Given the description of an element on the screen output the (x, y) to click on. 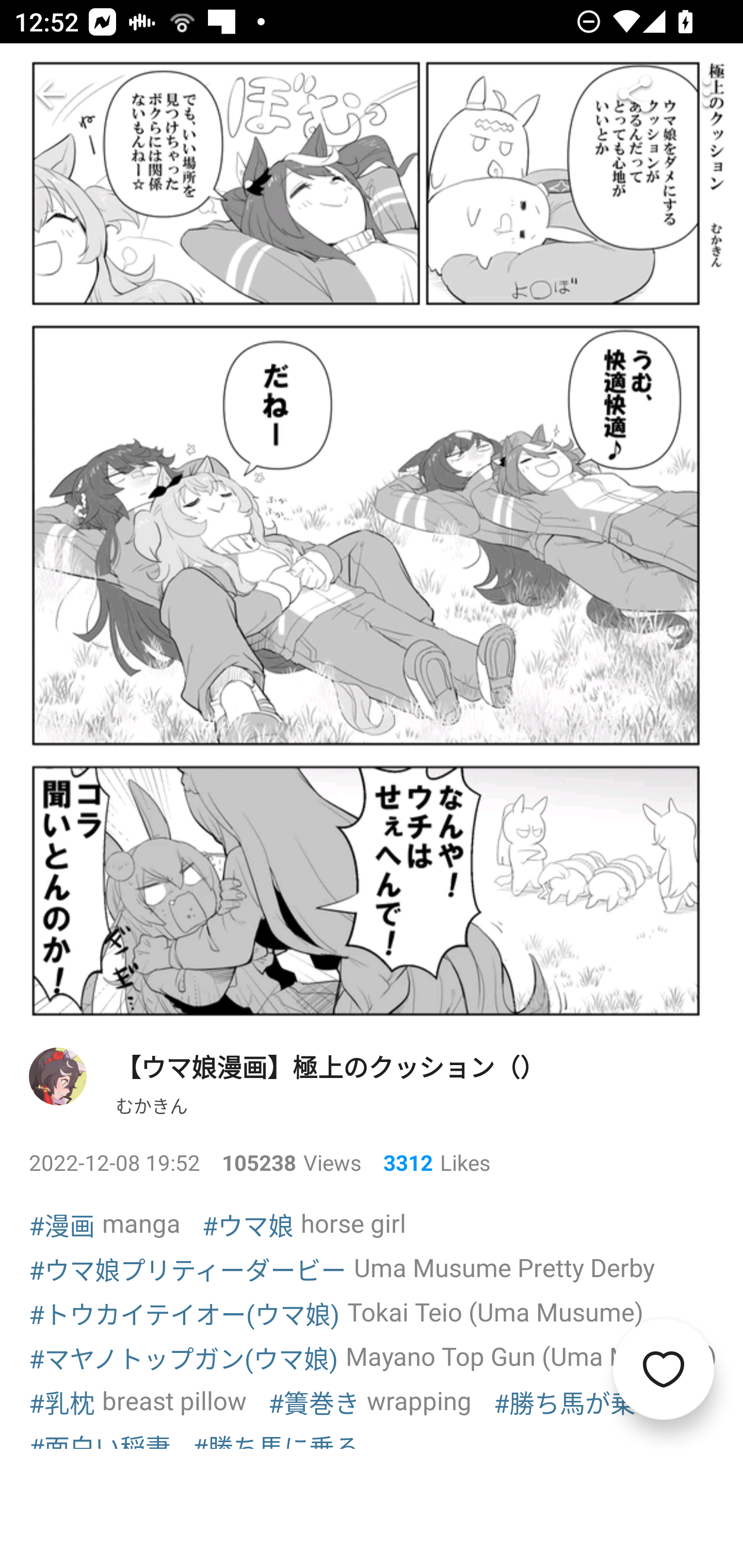
むかきん (151, 1104)
3312 (400, 1162)
#漫画 (61, 1224)
manga (141, 1222)
#ウマ娘 (247, 1224)
horse girl (353, 1222)
#ウマ娘プリティーダービー (187, 1268)
Uma Musume Pretty Derby (504, 1266)
#トウカイテイオー(ウマ娘) (184, 1313)
Tokai Teio (Uma Musume) (495, 1311)
#マヤノトップガン(ウマ娘) (183, 1357)
Mayano Top Gun (Uma Musume) (530, 1356)
#乳枕 (61, 1401)
breast pillow (174, 1399)
#簀巻き (313, 1401)
wrapping (419, 1399)
#勝ち馬が乗る (577, 1401)
